Given the description of an element on the screen output the (x, y) to click on. 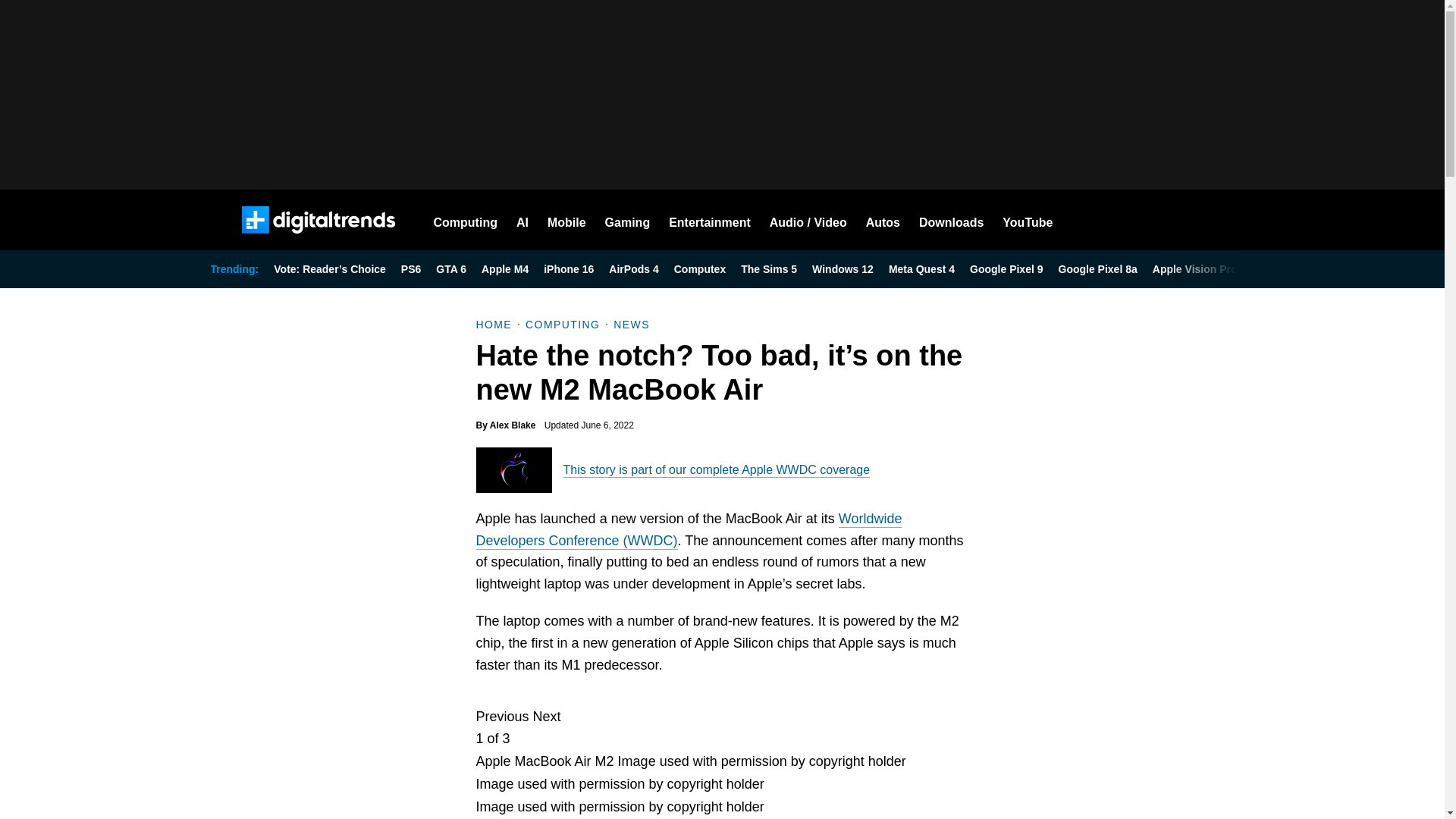
Downloads (951, 219)
Entertainment (709, 219)
Computing (465, 219)
